Given the description of an element on the screen output the (x, y) to click on. 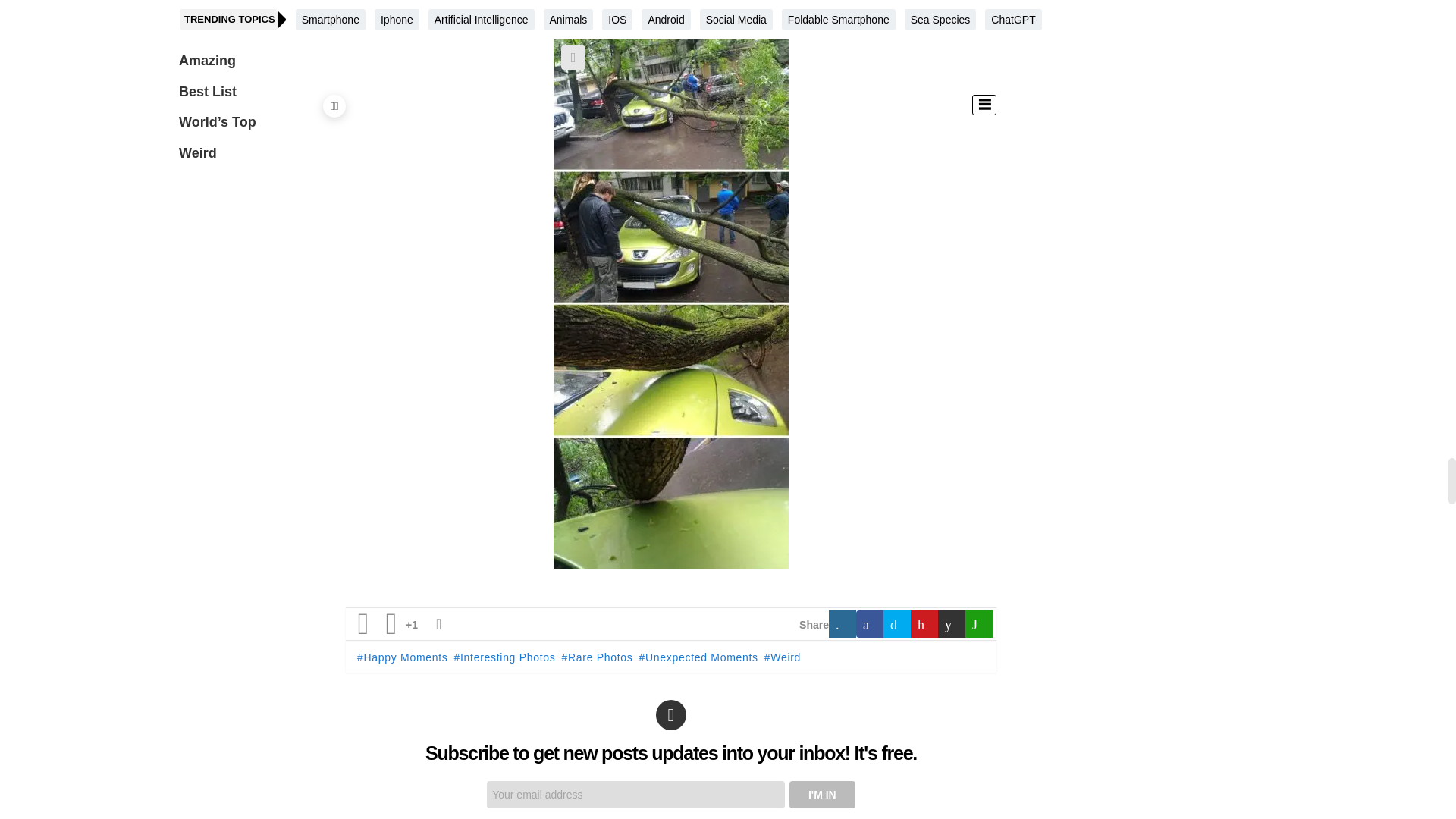
I'm In (822, 794)
